Given the description of an element on the screen output the (x, y) to click on. 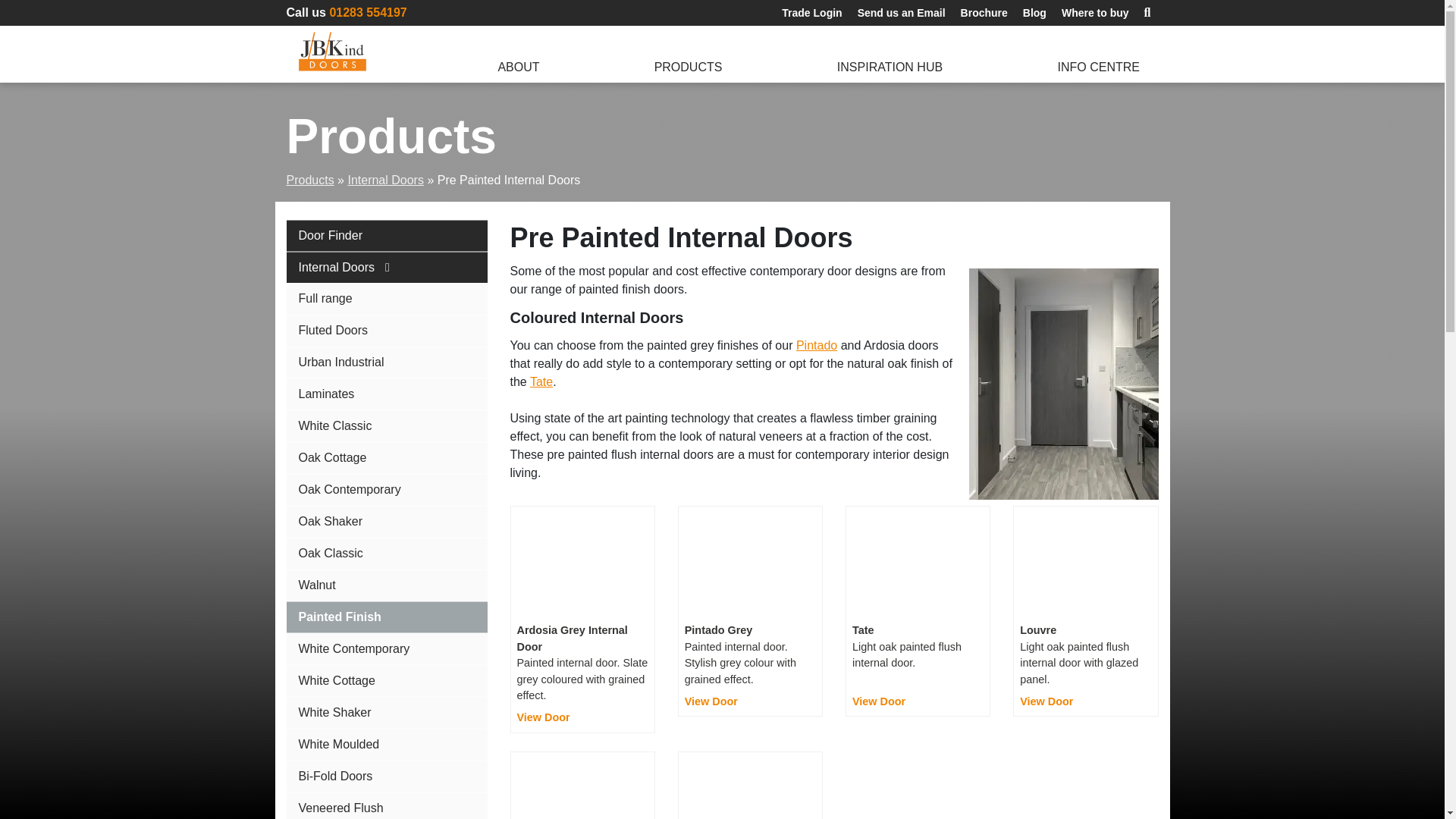
Send us an Email (901, 13)
Blog (1034, 13)
Where to buy (1095, 13)
01283 554197 (367, 11)
Brochure (983, 13)
Trade Login (811, 13)
